Given the description of an element on the screen output the (x, y) to click on. 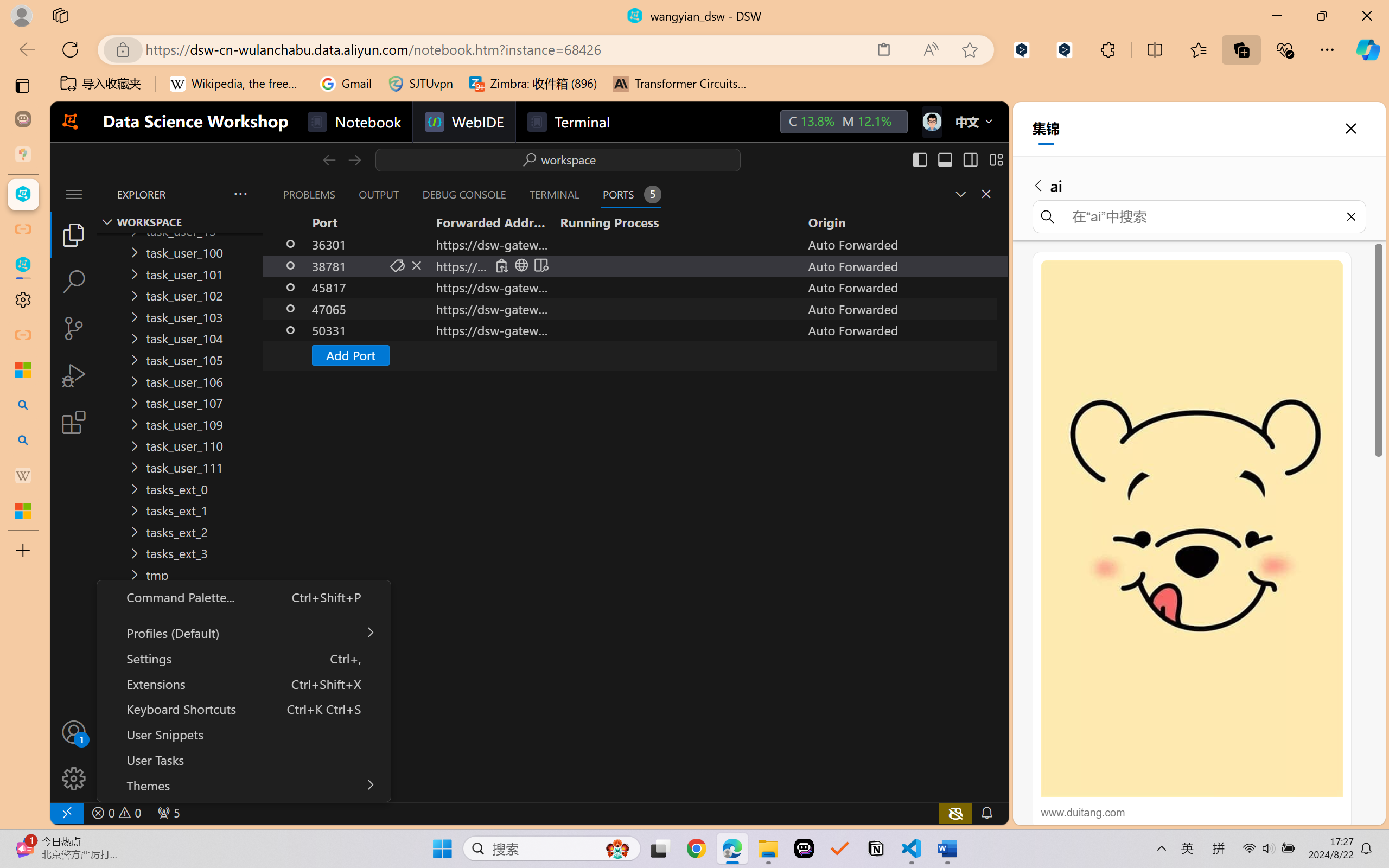
Debug Console (Ctrl+Shift+Y) (463, 194)
Microsoft security help and learning (22, 369)
Class: actions-container (520, 265)
Views and More Actions... (239, 193)
Go Back (Alt+LeftArrow) (329, 159)
Stop Forwarding Port (Delete) (416, 265)
WebIDE (463, 121)
